Given the description of an element on the screen output the (x, y) to click on. 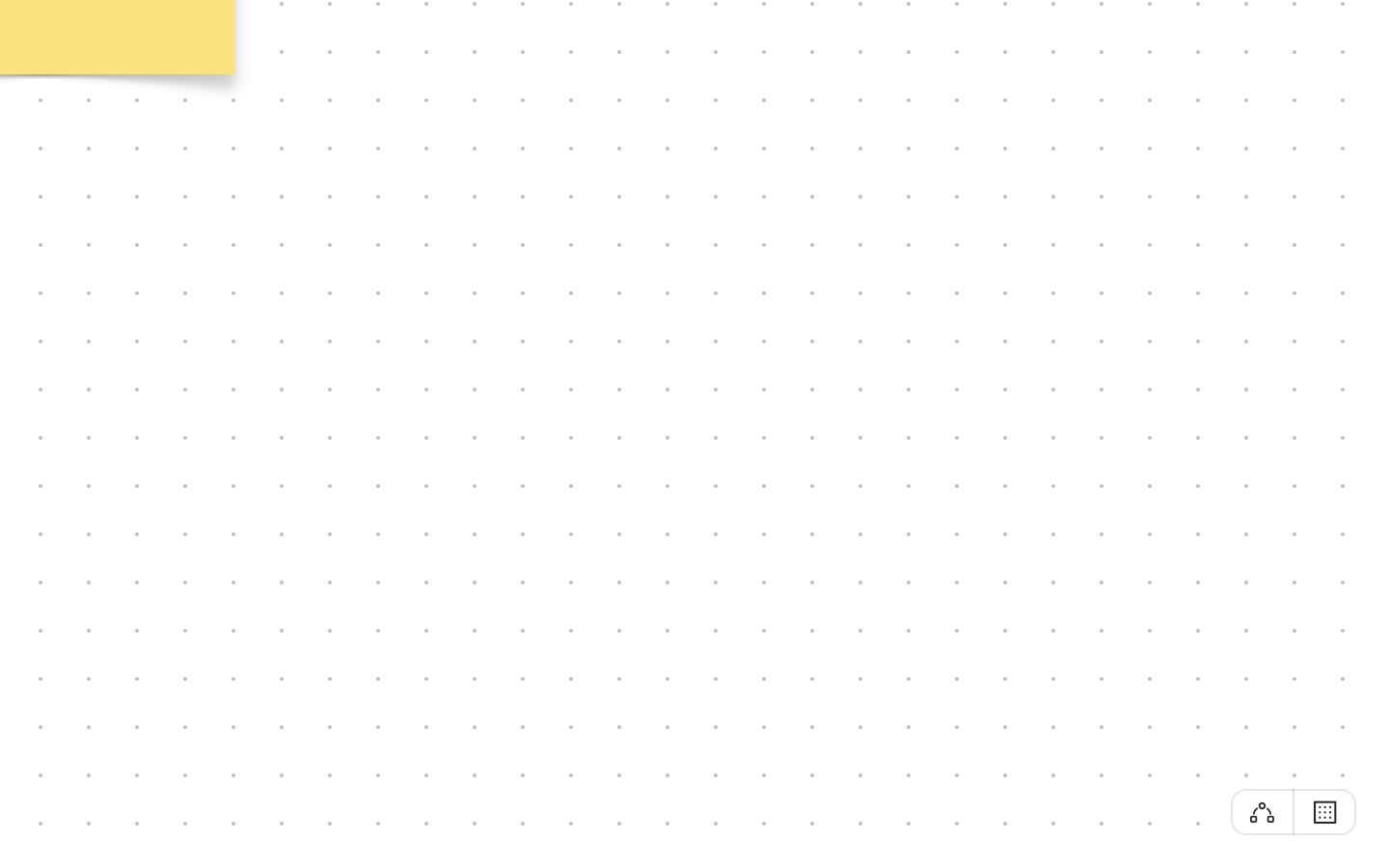
On Element type: AXButton (1325, 811)
Off Element type: AXButton (1261, 812)
